Given the description of an element on the screen output the (x, y) to click on. 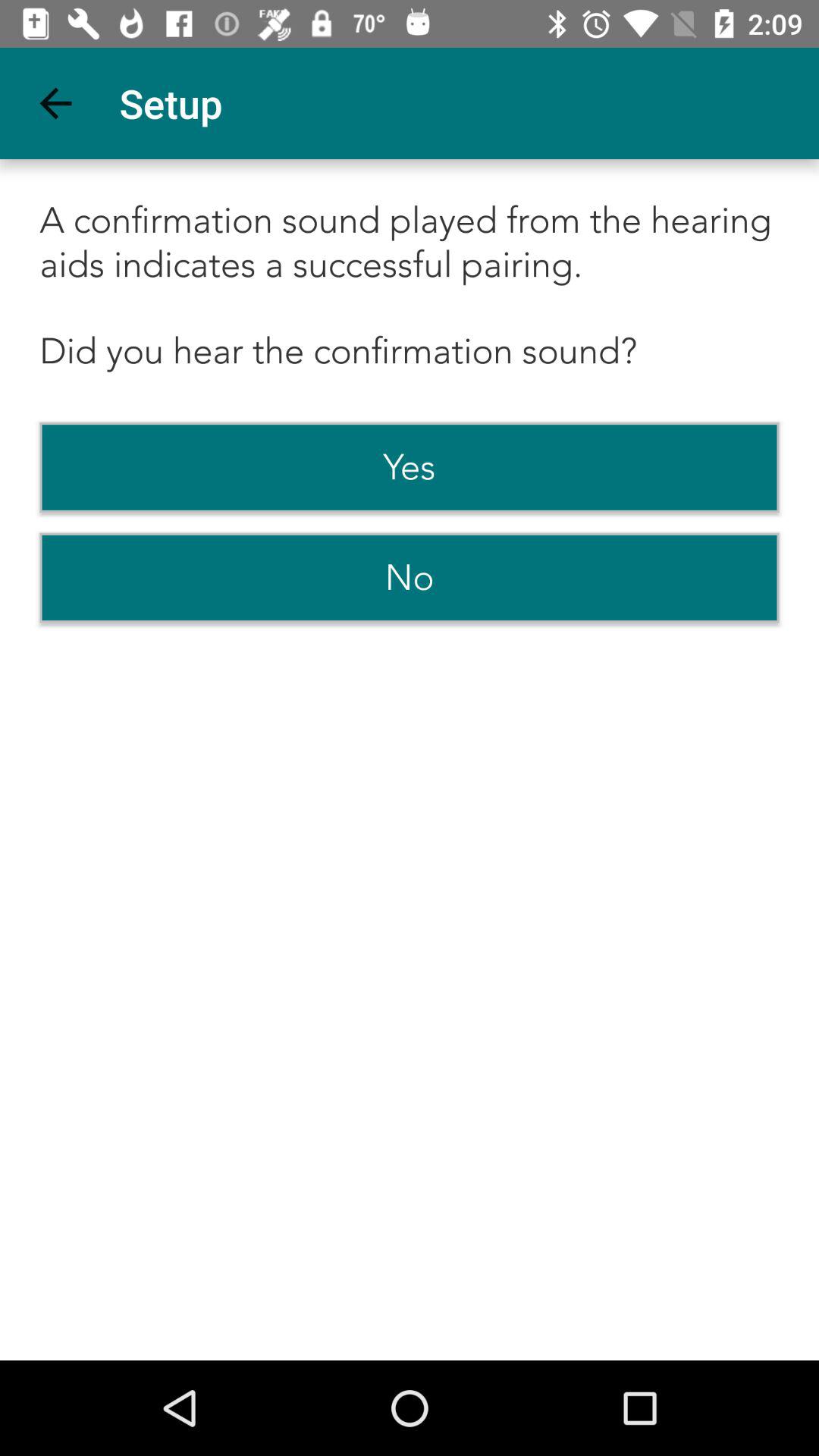
choose the icon at the center (409, 577)
